Given the description of an element on the screen output the (x, y) to click on. 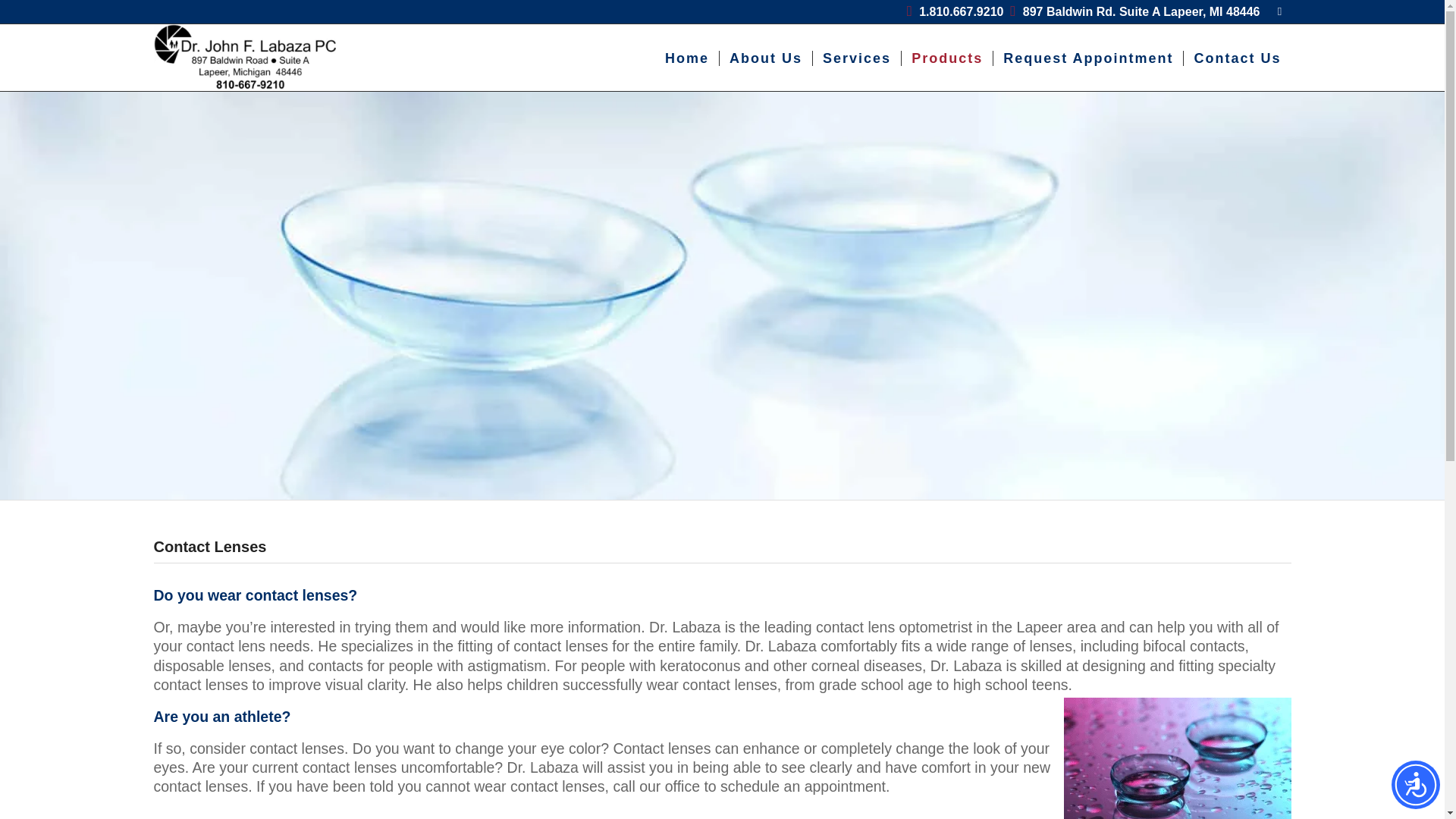
Services (856, 57)
About Us (765, 57)
Home (687, 57)
Contact Us (1236, 57)
Request Appointment (1087, 57)
Products (946, 57)
Accessibility Menu (1415, 784)
